Given the description of an element on the screen output the (x, y) to click on. 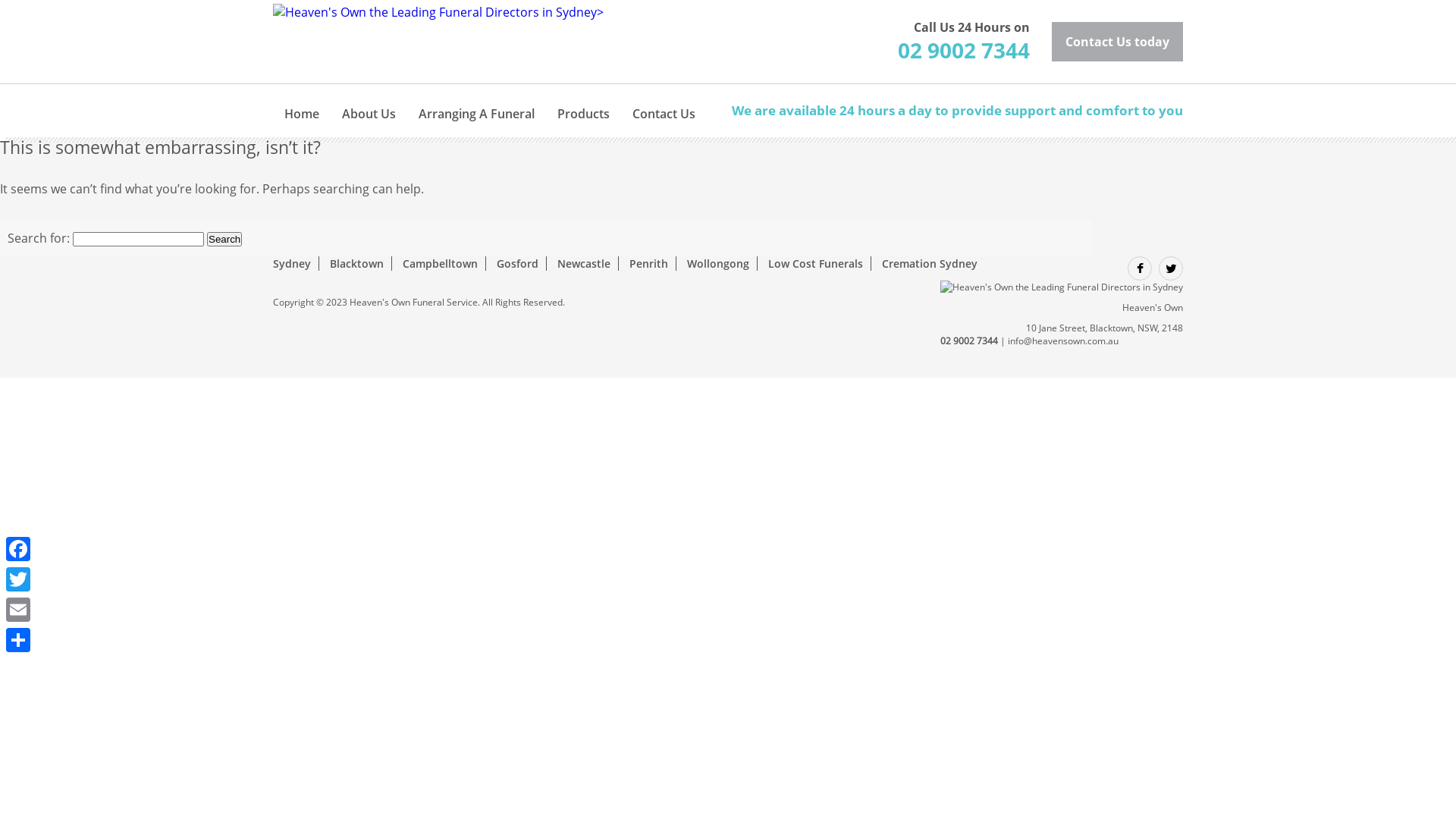
Home Element type: text (301, 104)
Newcastle Element type: text (583, 263)
02 9002 7344 Element type: text (963, 49)
Email Element type: text (18, 609)
Sydney Element type: text (291, 263)
Gosford Element type: text (517, 263)
Blacktown Element type: text (356, 263)
Products Element type: text (583, 104)
Campbelltown Element type: text (439, 263)
Penrith Element type: text (648, 263)
Arranging A Funeral Element type: text (476, 104)
Contact Us Element type: text (663, 104)
Facebook Element type: text (18, 548)
Low Cost Funerals Element type: text (815, 263)
Twitter Element type: text (18, 579)
Share Element type: text (18, 639)
Search Element type: text (224, 239)
Contact Us today Element type: text (1117, 41)
Wollongong Element type: text (718, 263)
About Us Element type: text (368, 104)
Cremation Sydney Element type: text (929, 263)
